Given the description of an element on the screen output the (x, y) to click on. 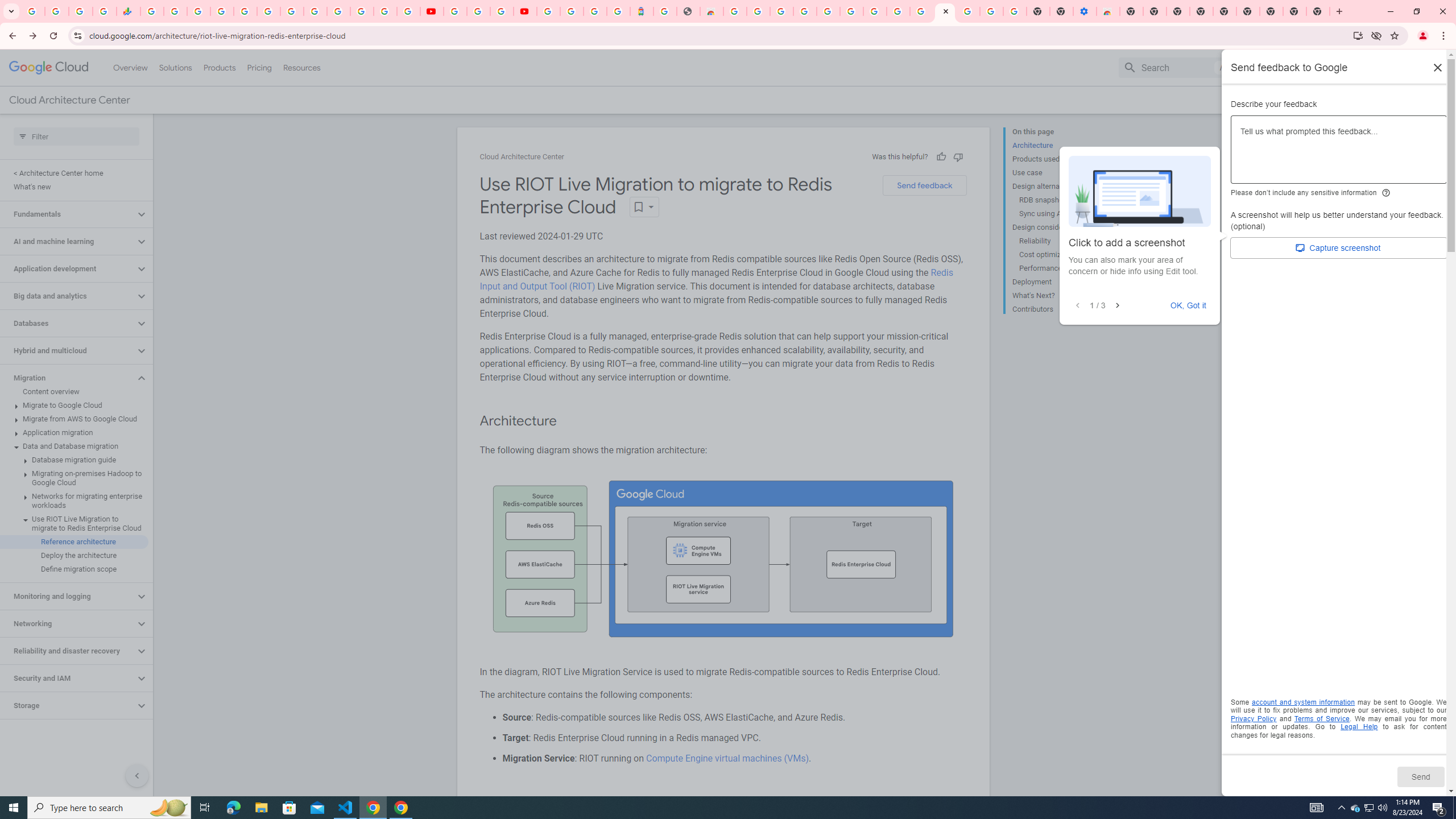
Sign in - Google Accounts (221, 11)
Settings - Accessibility (1085, 11)
Cost optimization (1062, 254)
Reliability (1062, 241)
Networks for migrating enterprise workloads (74, 500)
Compute Engine virtual machines (VMs) (726, 758)
Browse the Google Chrome Community - Google Chrome Community (921, 11)
New Tab (1271, 11)
Install Google Cloud (1358, 35)
AI and machine learning (67, 241)
Storage (67, 705)
Security and IAM (67, 678)
Previous (1077, 305)
